Given the description of an element on the screen output the (x, y) to click on. 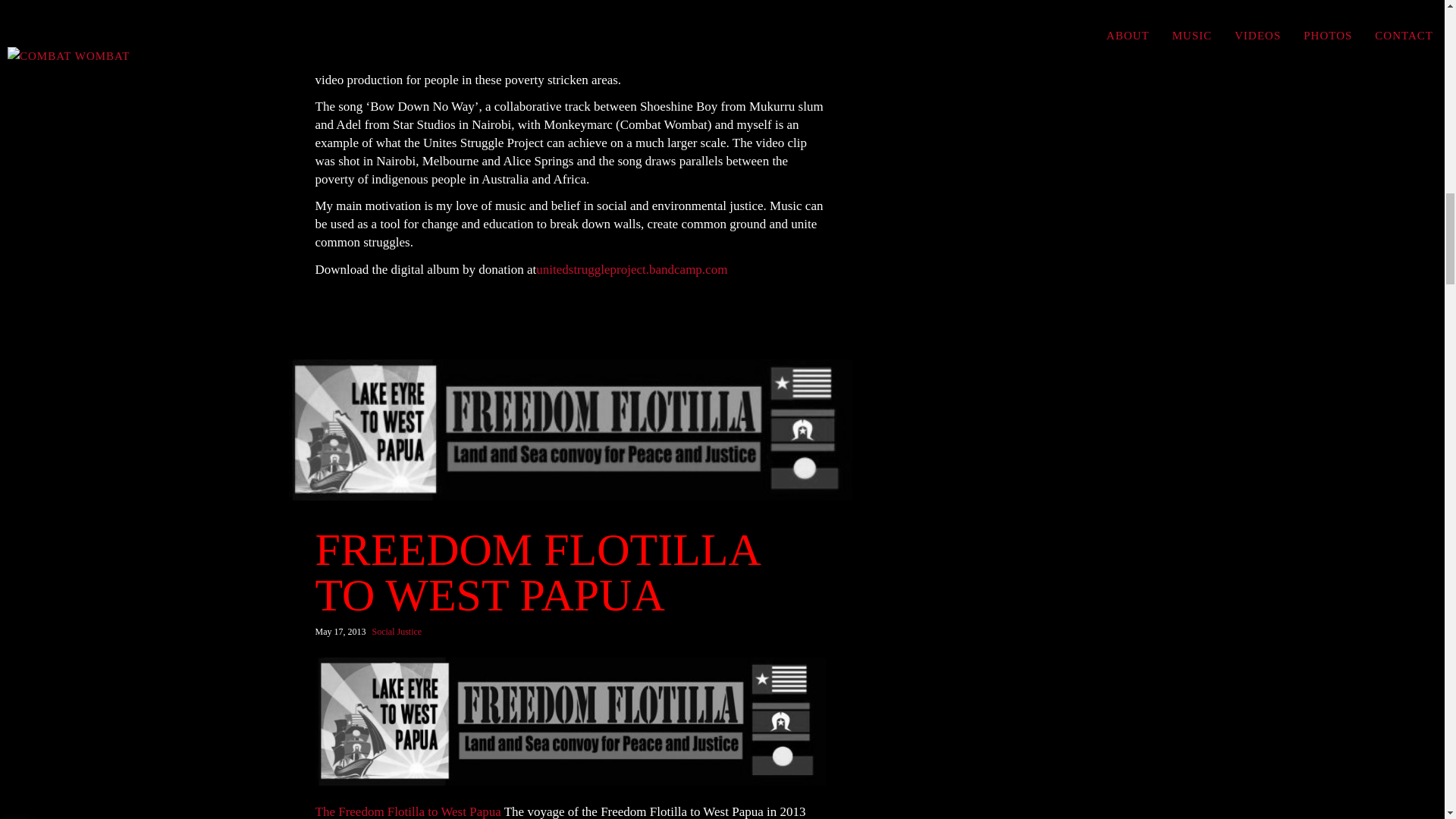
May 17, 2013 (341, 631)
Social Justice (396, 631)
The Freedom Flotilla to West Papua (407, 811)
FREEDOM FLOTILLA TO WEST PAPUA (571, 572)
unitedstruggleproject.bandcamp.com (630, 269)
